Given the description of an element on the screen output the (x, y) to click on. 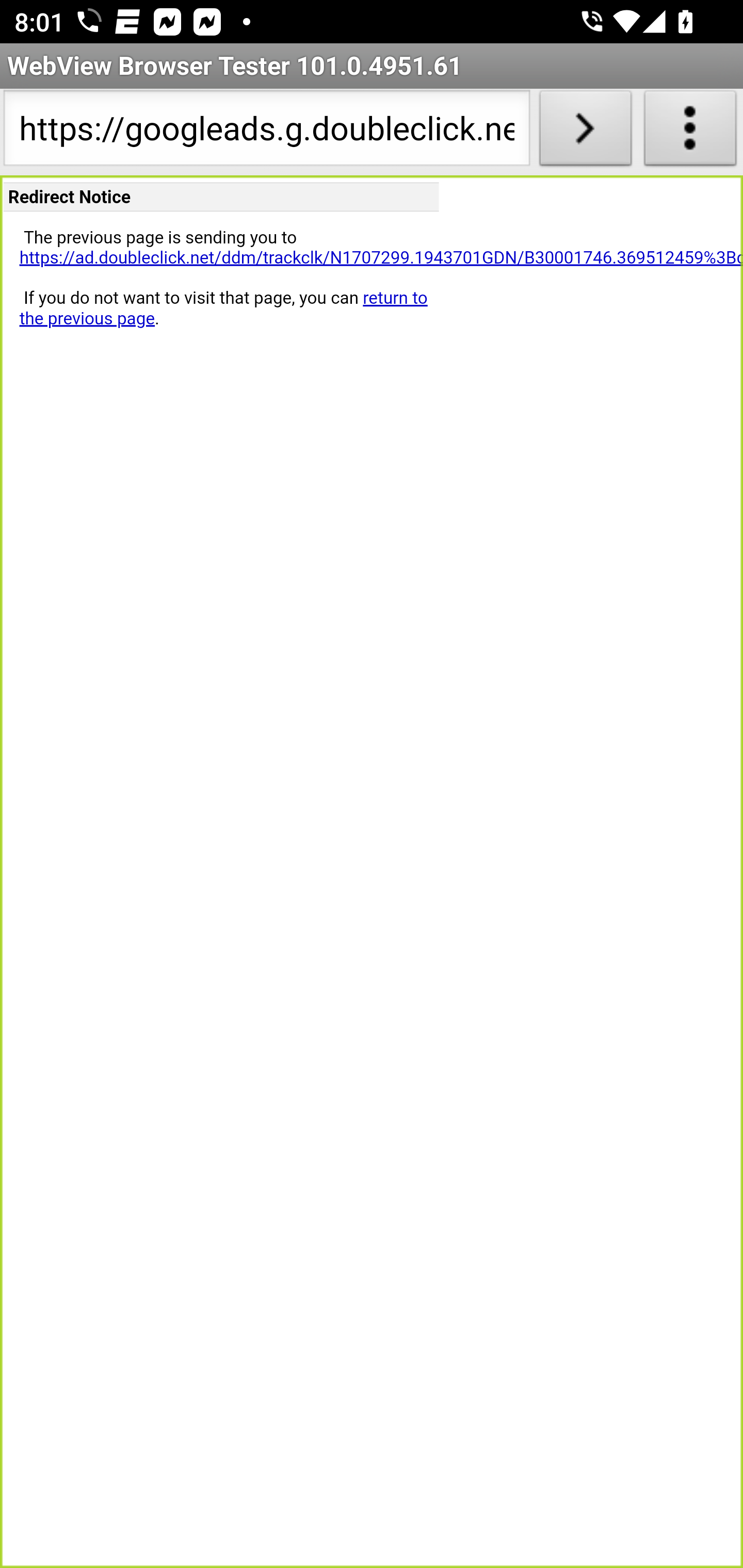
Load URL (585, 132)
About WebView (690, 132)
return to the previous page (222, 307)
